Given the description of an element on the screen output the (x, y) to click on. 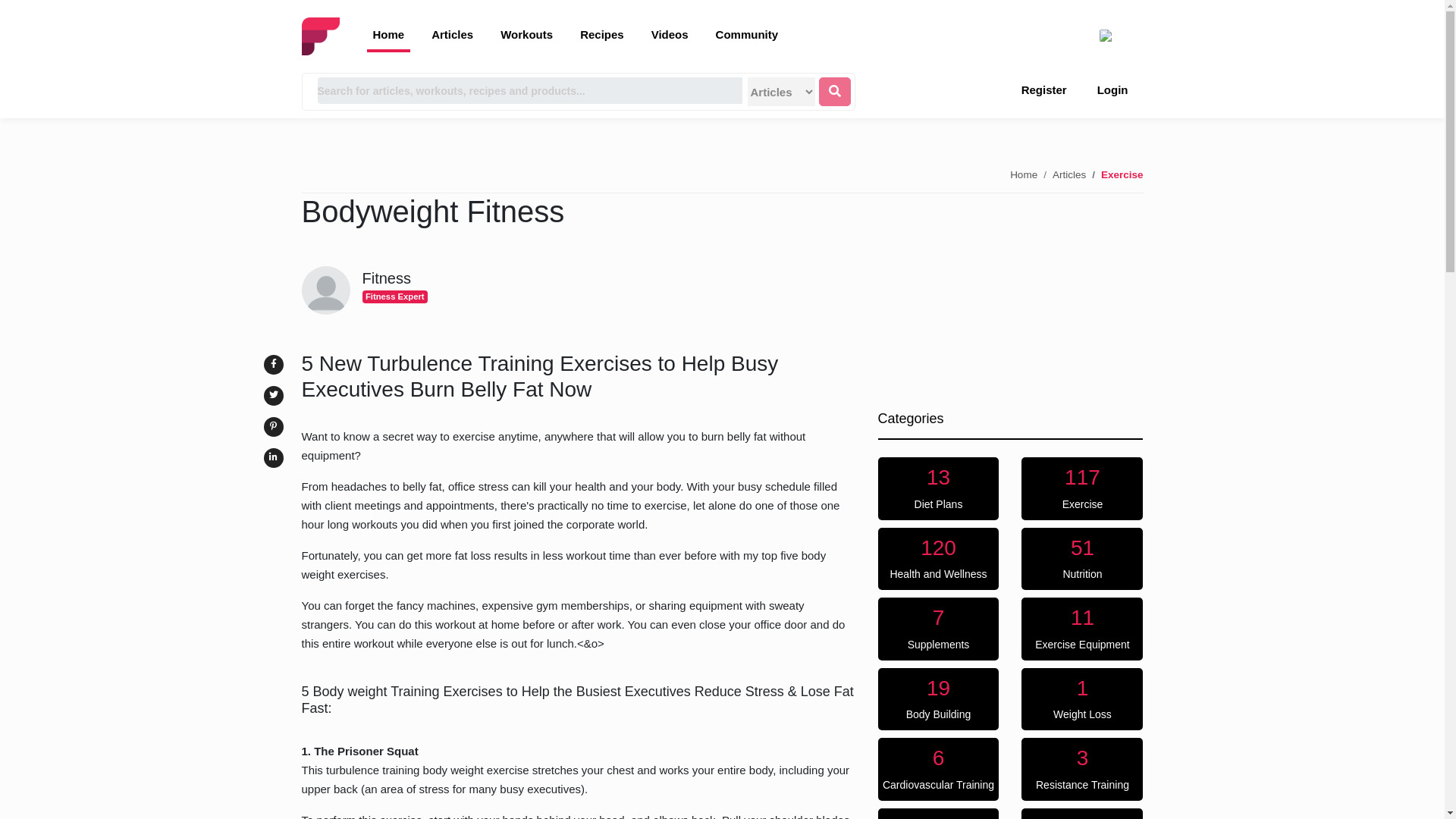
Login (1112, 87)
Articles (1082, 558)
Home (1069, 174)
Videos (1082, 768)
Community (937, 699)
